Given the description of an element on the screen output the (x, y) to click on. 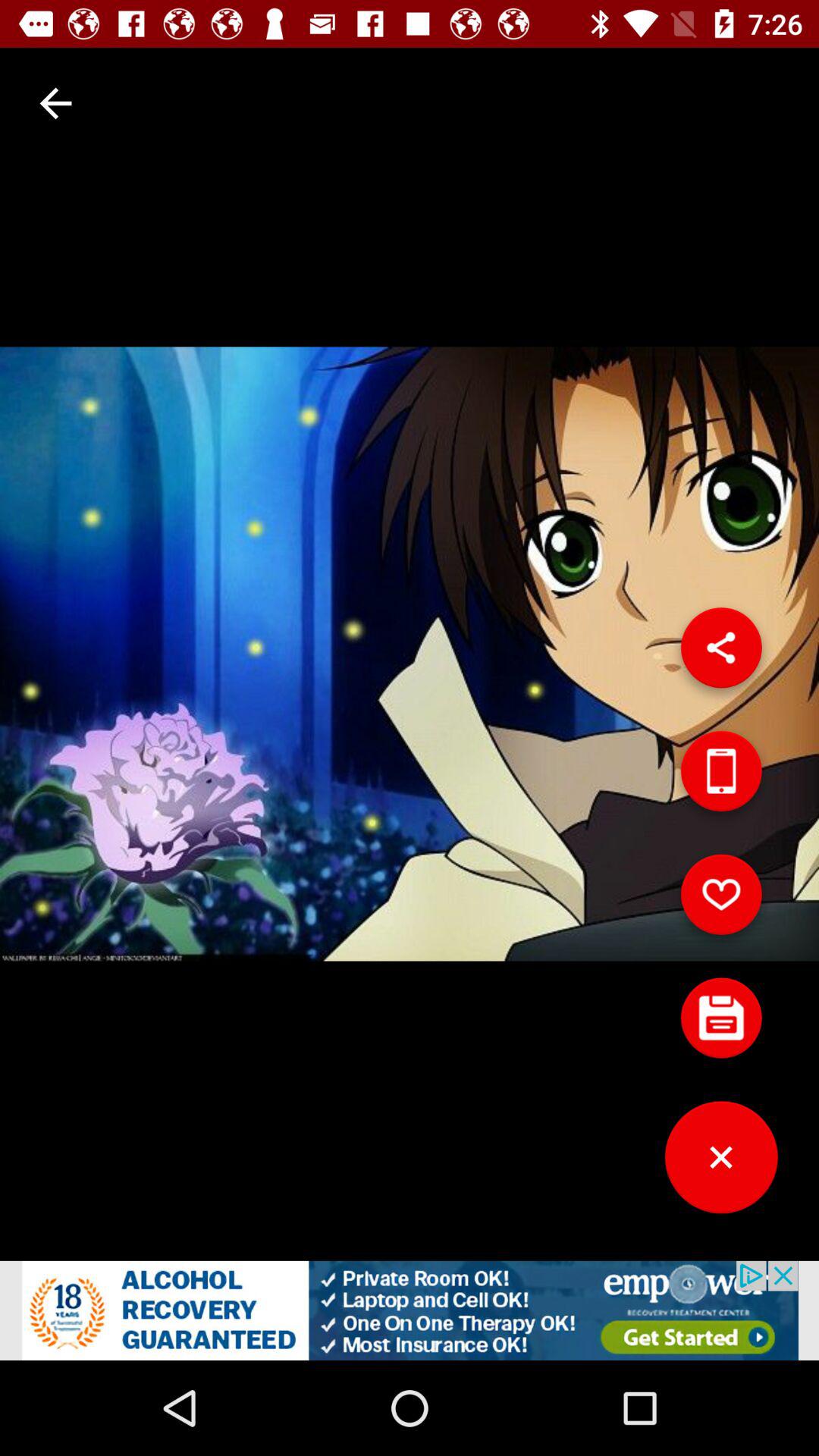
add the option (409, 1310)
